Given the description of an element on the screen output the (x, y) to click on. 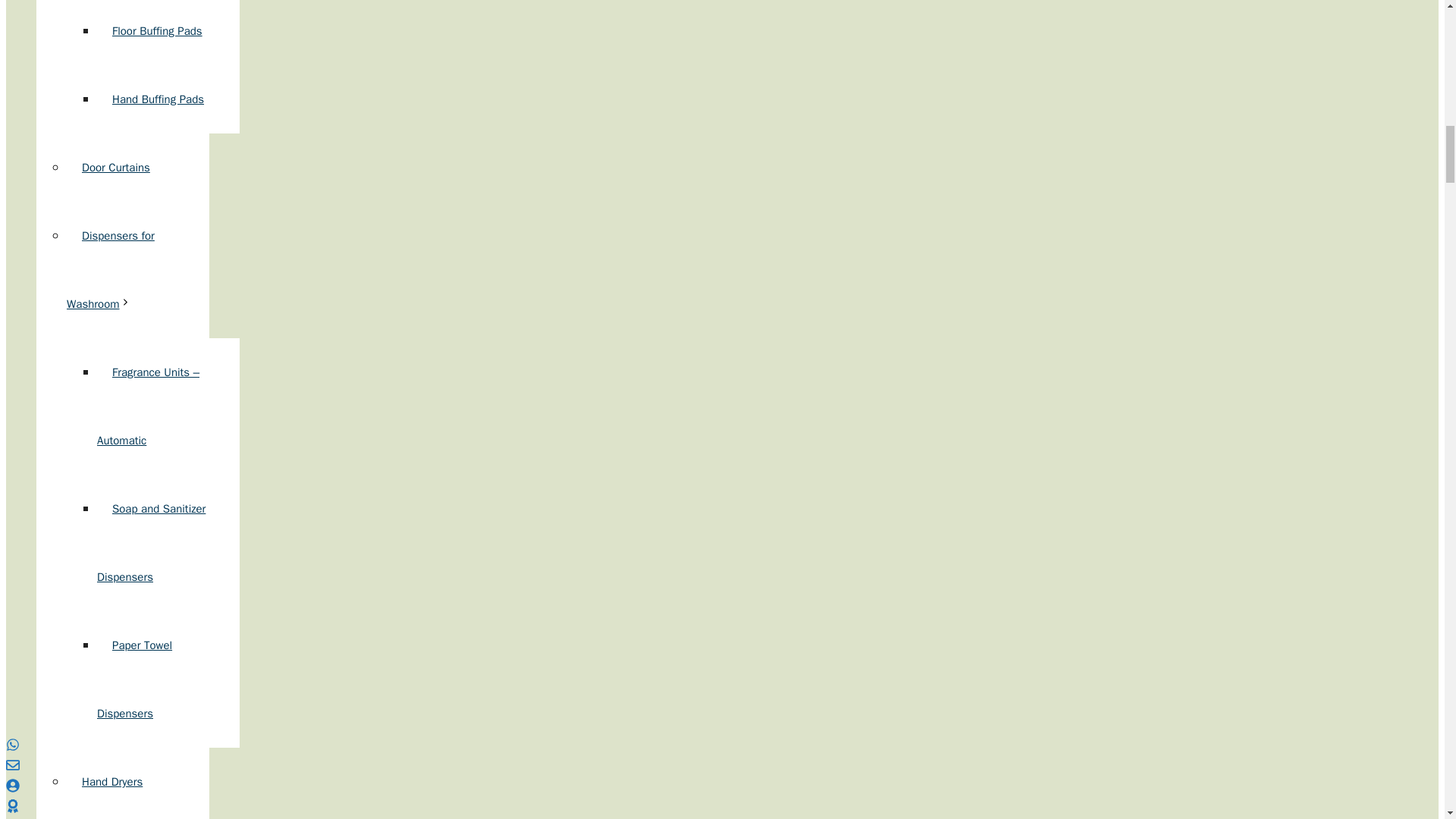
Dispensers for Washroom (110, 269)
Hand Dryers (111, 781)
Floor Buffing Pads (156, 30)
Paper Towel Dispensers (134, 679)
Hand Buffing Pads (158, 99)
Door Curtains (115, 167)
Soap and Sanitizer Dispensers (151, 542)
